Given the description of an element on the screen output the (x, y) to click on. 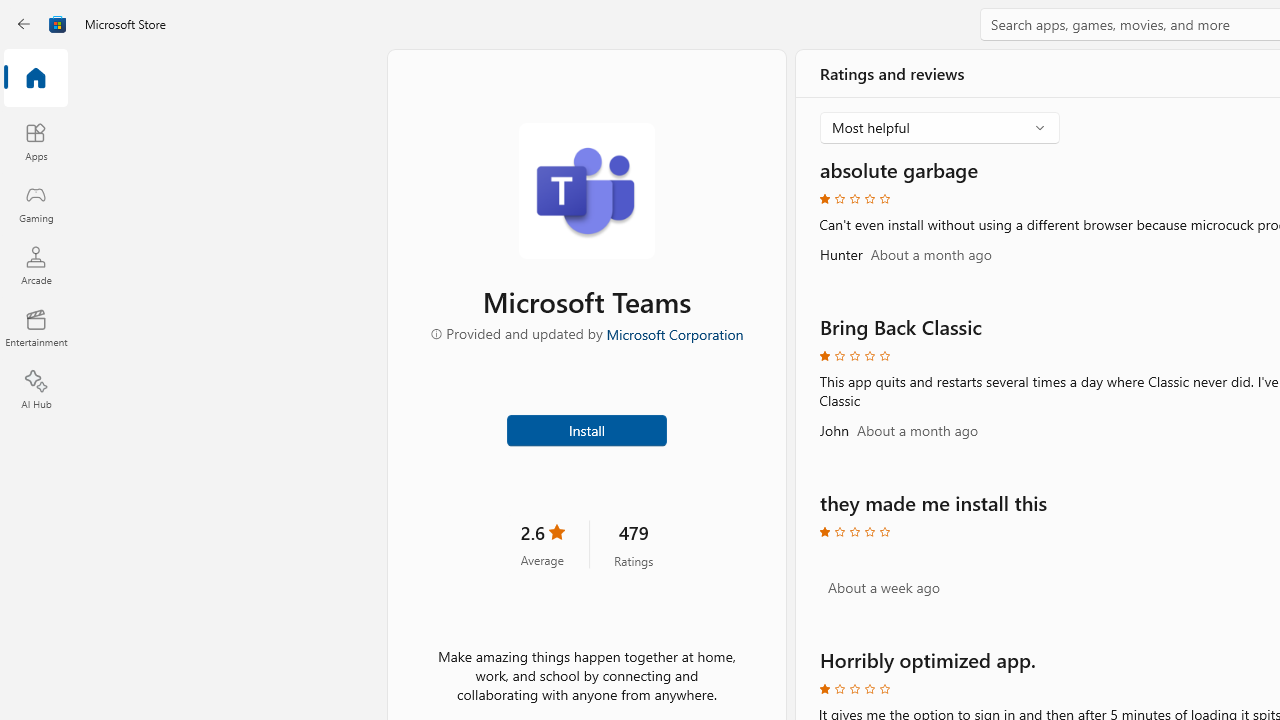
Arcade (35, 265)
Install (586, 428)
Apps (35, 141)
Home (35, 79)
Entertainment (35, 327)
2.6 stars. Click to skip to ratings and reviews (542, 543)
Sort by (939, 128)
Class: Image (58, 24)
AI Hub (35, 390)
Microsoft Corporation (673, 333)
Most helpful (926, 125)
Back (24, 24)
Gaming (35, 203)
